Given the description of an element on the screen output the (x, y) to click on. 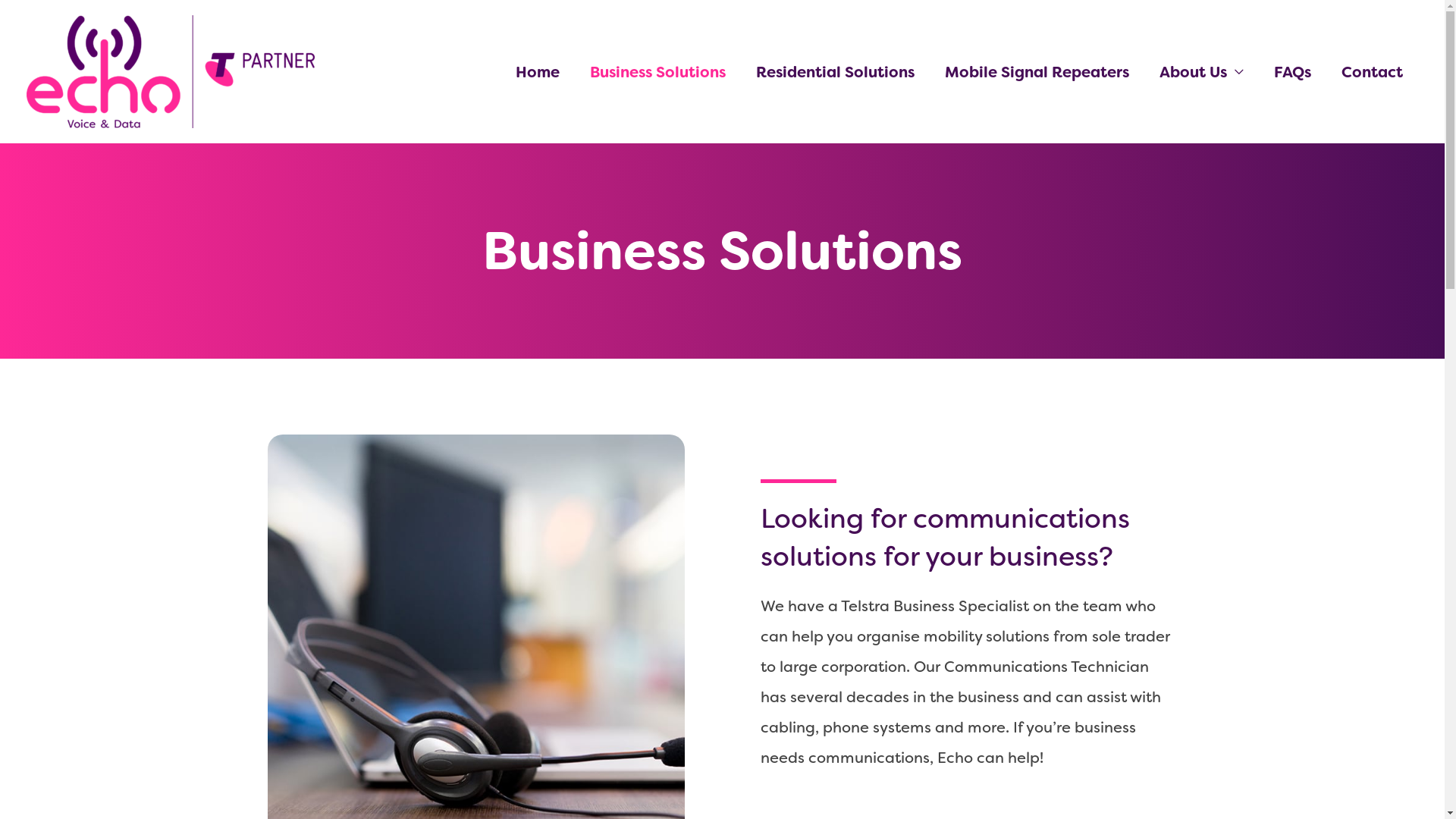
Business Solutions Element type: text (657, 71)
FAQs Element type: text (1292, 71)
About Us Element type: text (1201, 71)
Residential Solutions Element type: text (834, 71)
Contact Element type: text (1372, 71)
Home Element type: text (537, 71)
Mobile Signal Repeaters Element type: text (1036, 71)
